Given the description of an element on the screen output the (x, y) to click on. 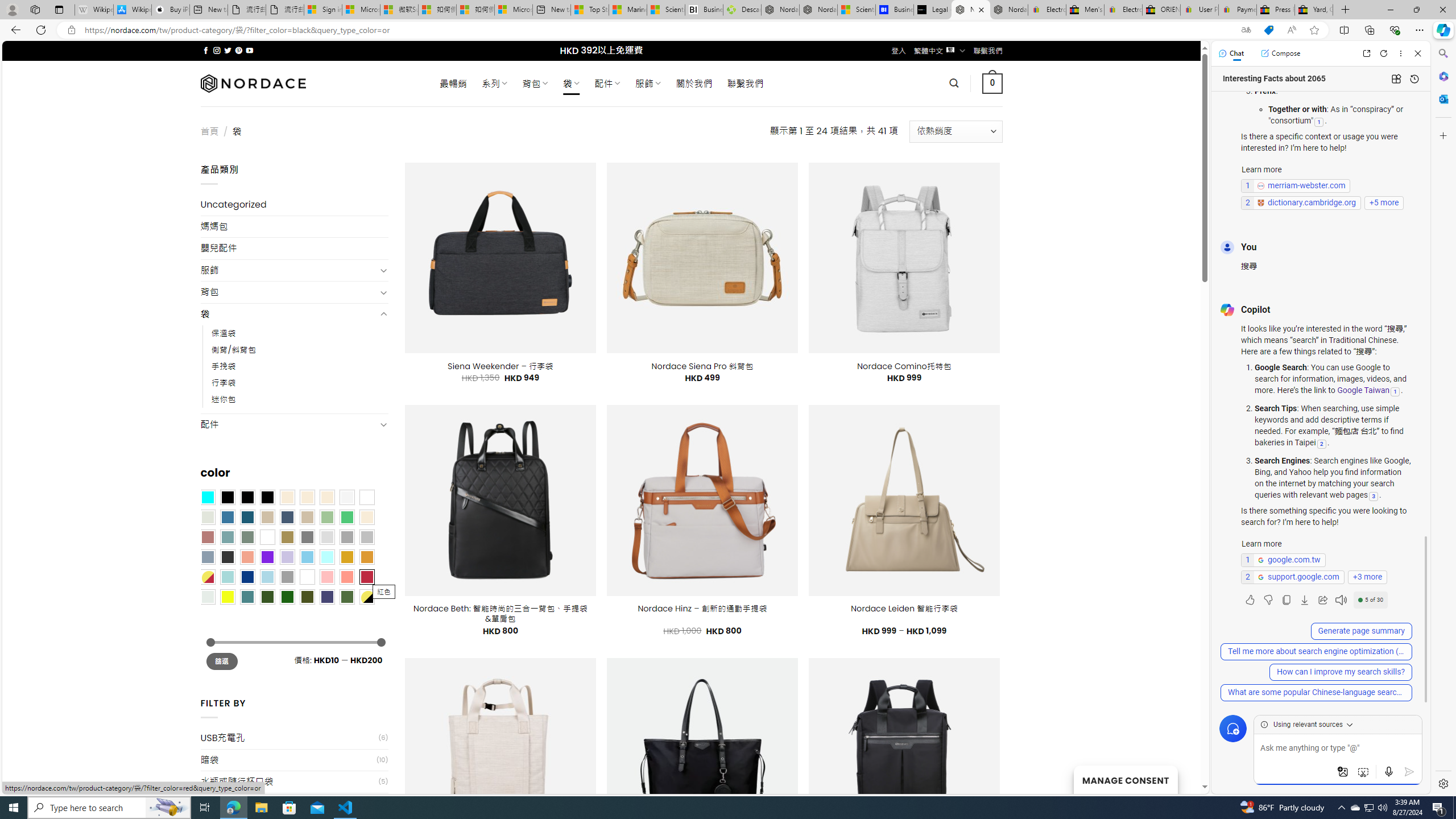
Marine life - MSN (628, 9)
Descarga Driver Updater (741, 9)
Follow on YouTube (249, 50)
